Given the description of an element on the screen output the (x, y) to click on. 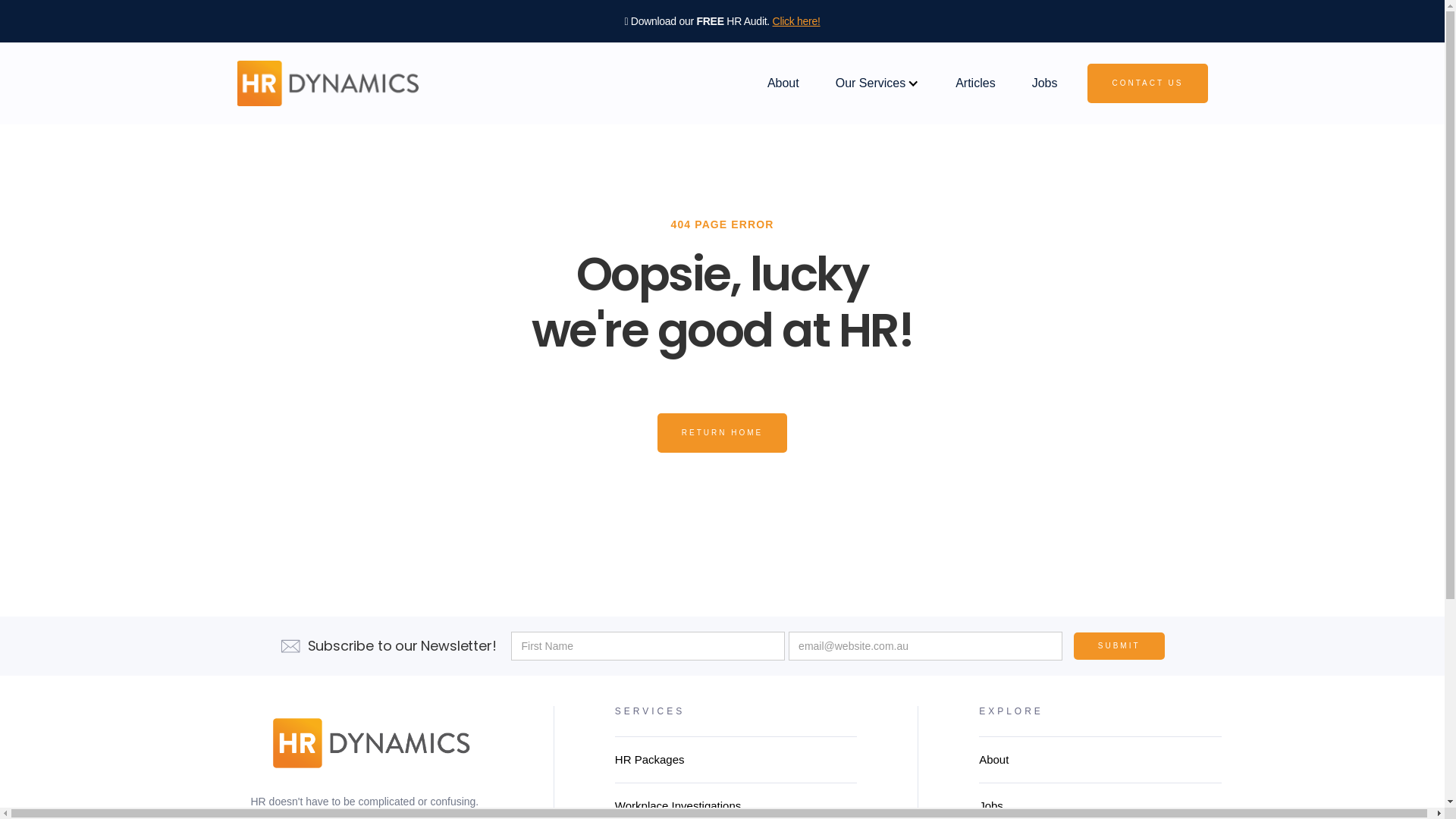
CONTACT US Element type: text (1147, 83)
Click here! Element type: text (796, 21)
Submit Element type: text (1118, 645)
HR Packages Element type: text (735, 760)
About Element type: text (1099, 760)
RETURN HOME Element type: text (722, 432)
Jobs Element type: text (1044, 83)
About Element type: text (783, 83)
Articles Element type: text (975, 83)
